Given the description of an element on the screen output the (x, y) to click on. 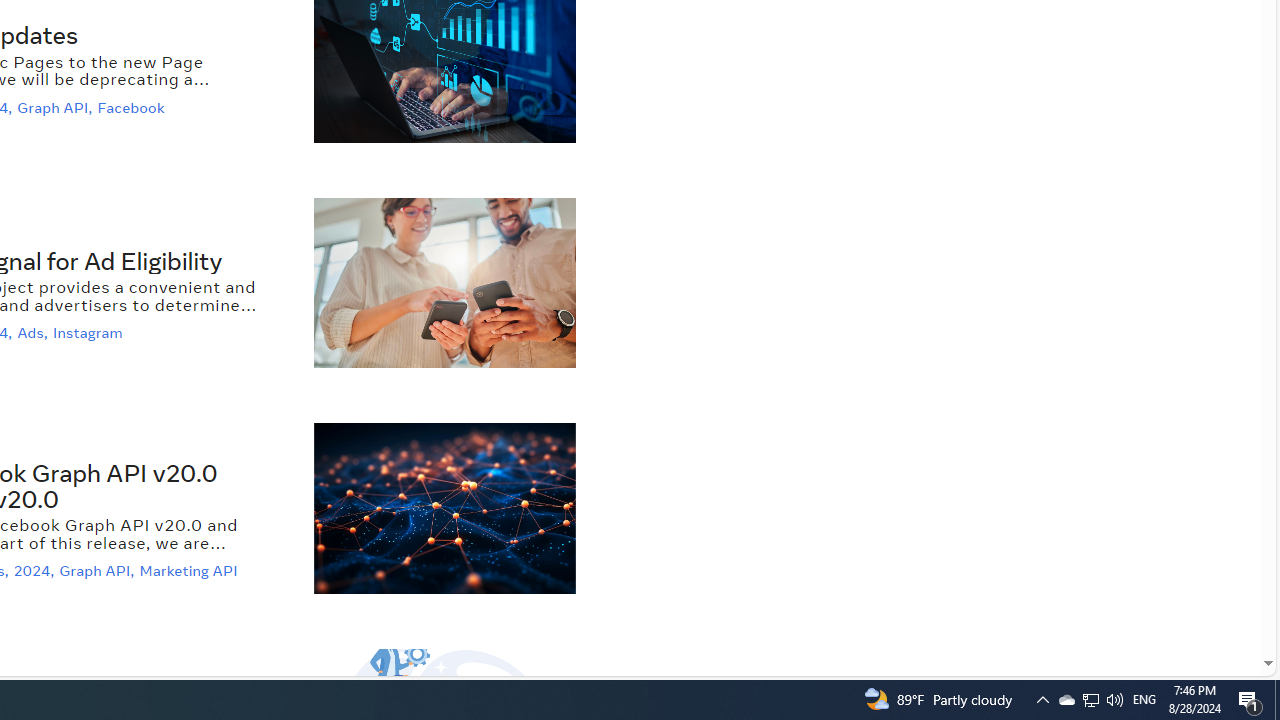
Graph API, (98, 571)
2024, (36, 571)
Ads, (34, 333)
Facebook (133, 106)
Marketing API (191, 571)
Instagram (90, 333)
